Given the description of an element on the screen output the (x, y) to click on. 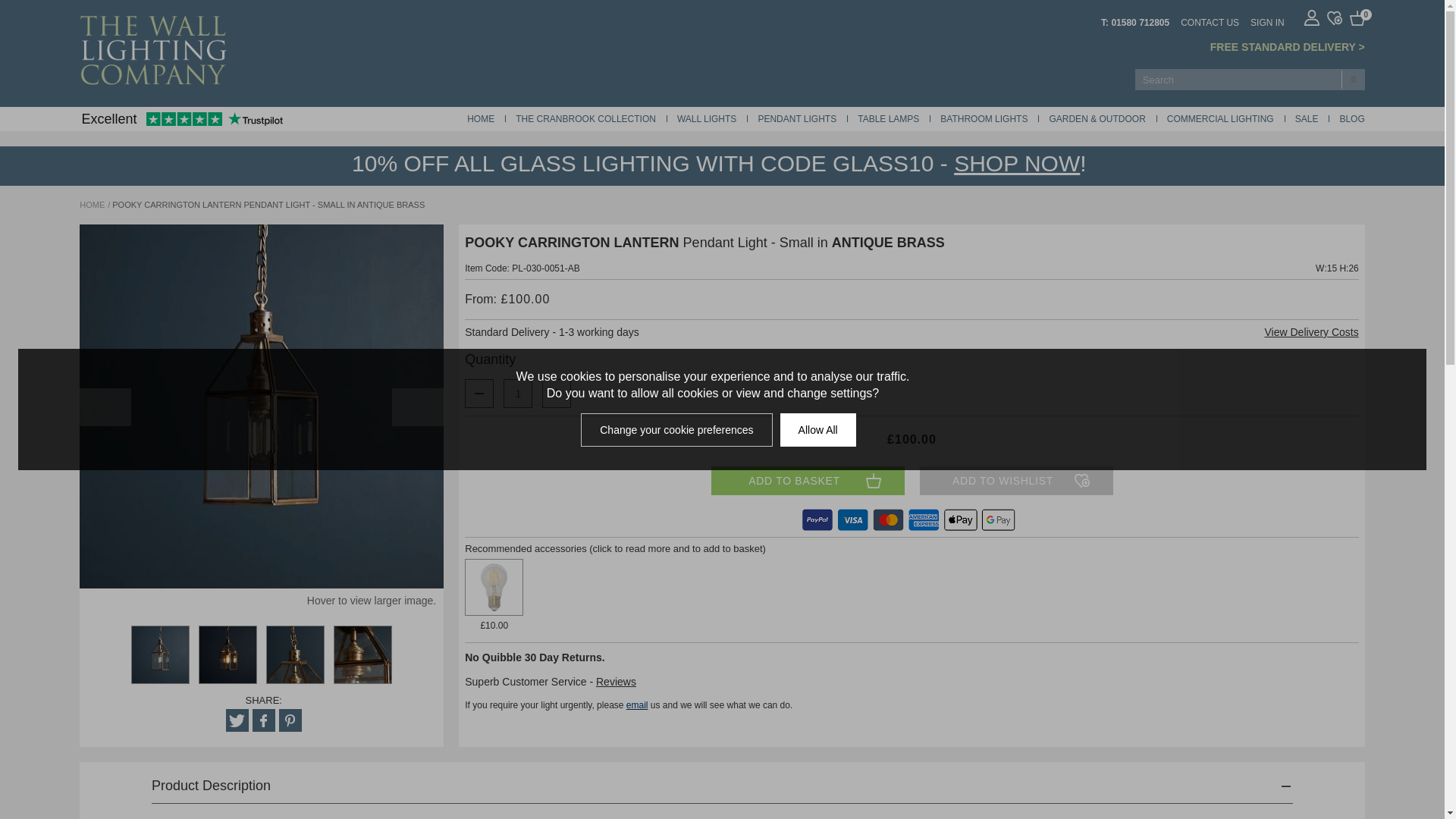
TABLE LAMPS (887, 118)
COMMERCIAL LIGHTING (1220, 118)
Add to wishlist (1015, 480)
HOME (481, 118)
Allow All (818, 429)
1 (517, 393)
WALL LIGHTS (706, 118)
T: 01580 712805 (1134, 21)
BATHROOM LIGHTS (983, 118)
Add to Basket (807, 480)
